Given the description of an element on the screen output the (x, y) to click on. 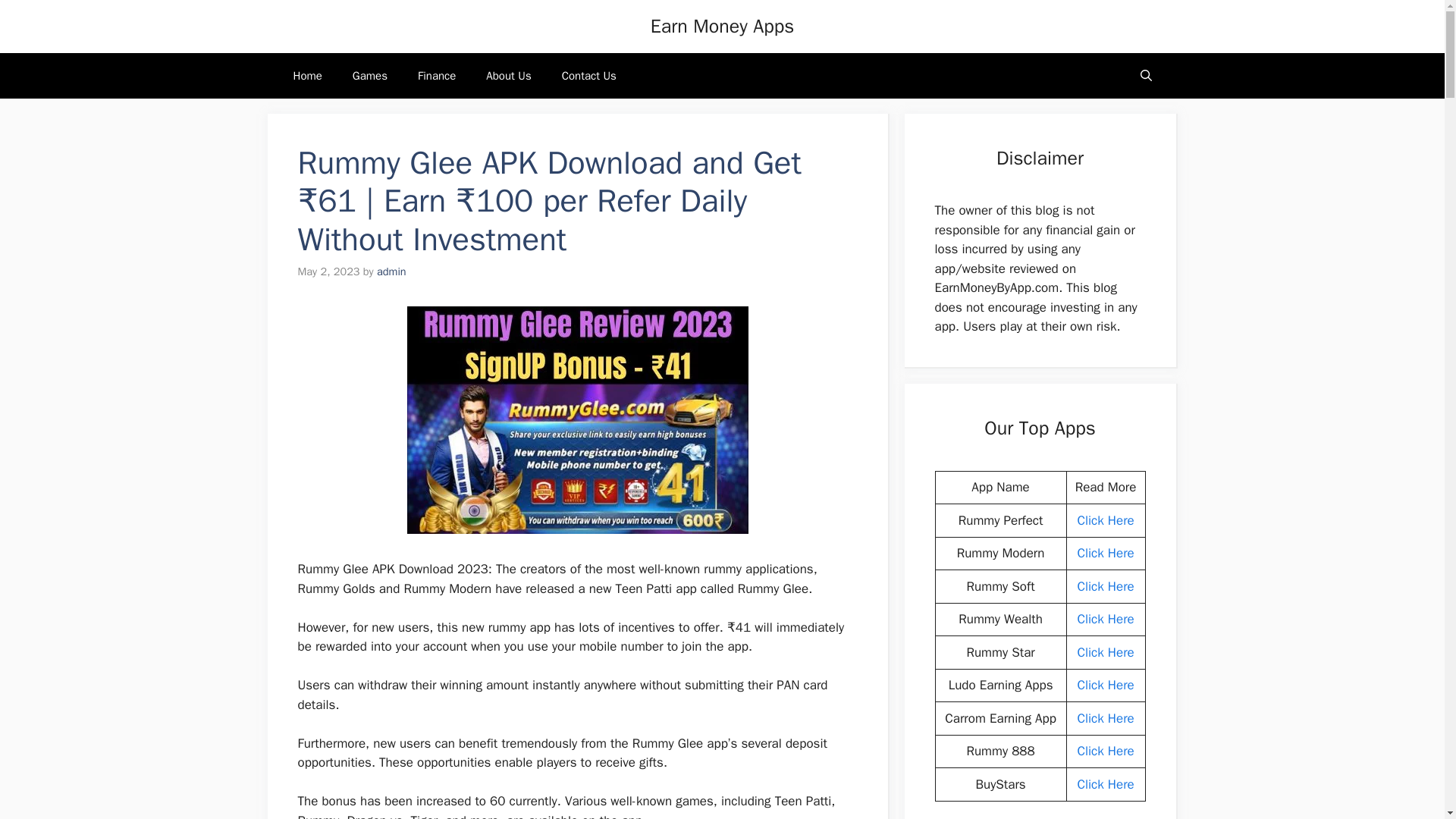
About Us (508, 75)
View all posts by admin (391, 271)
Earn Money Apps (721, 25)
admin (391, 271)
Finance (436, 75)
Games (370, 75)
Home (307, 75)
Contact Us (589, 75)
